Given the description of an element on the screen output the (x, y) to click on. 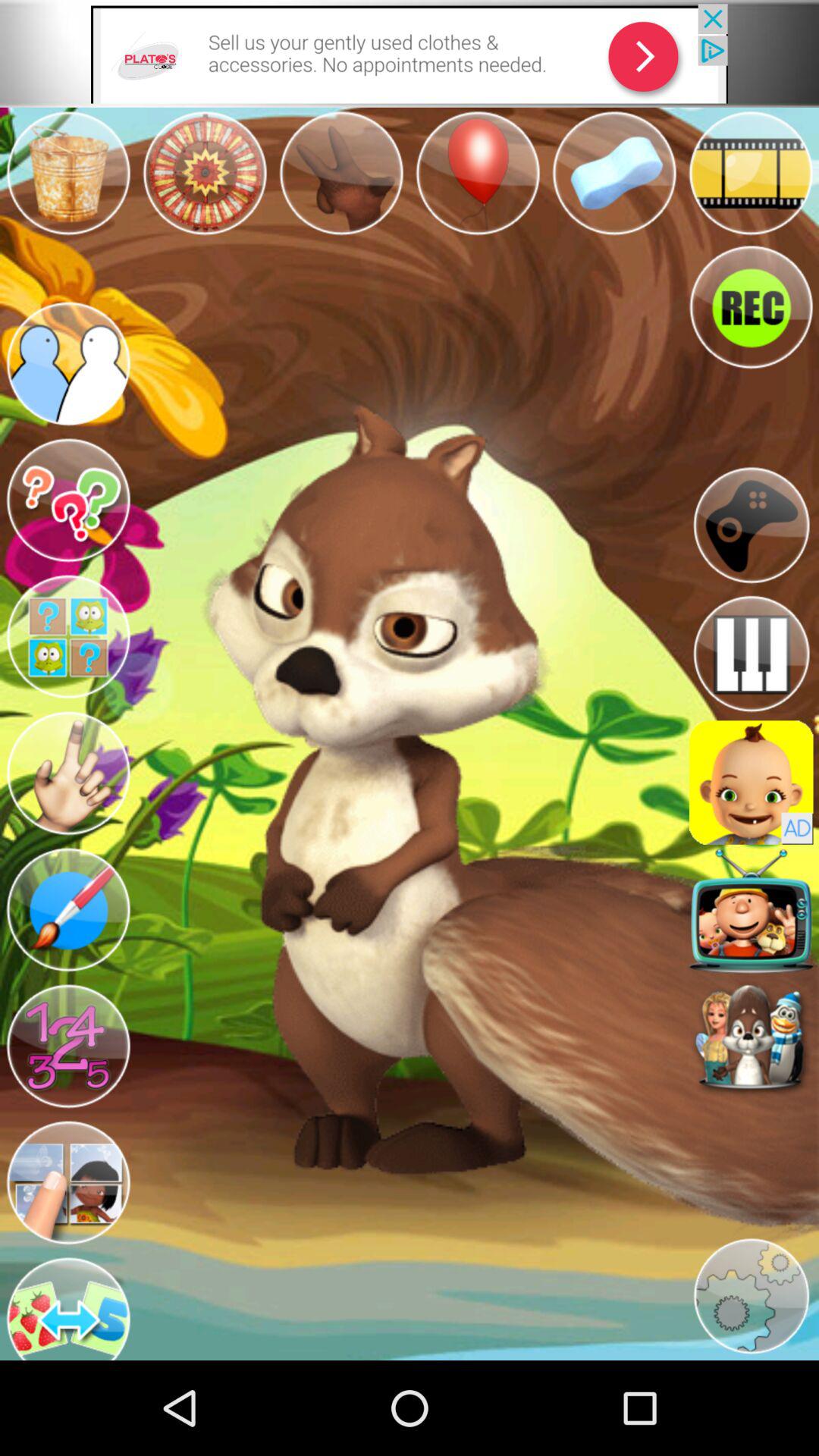
play option (751, 525)
